Given the description of an element on the screen output the (x, y) to click on. 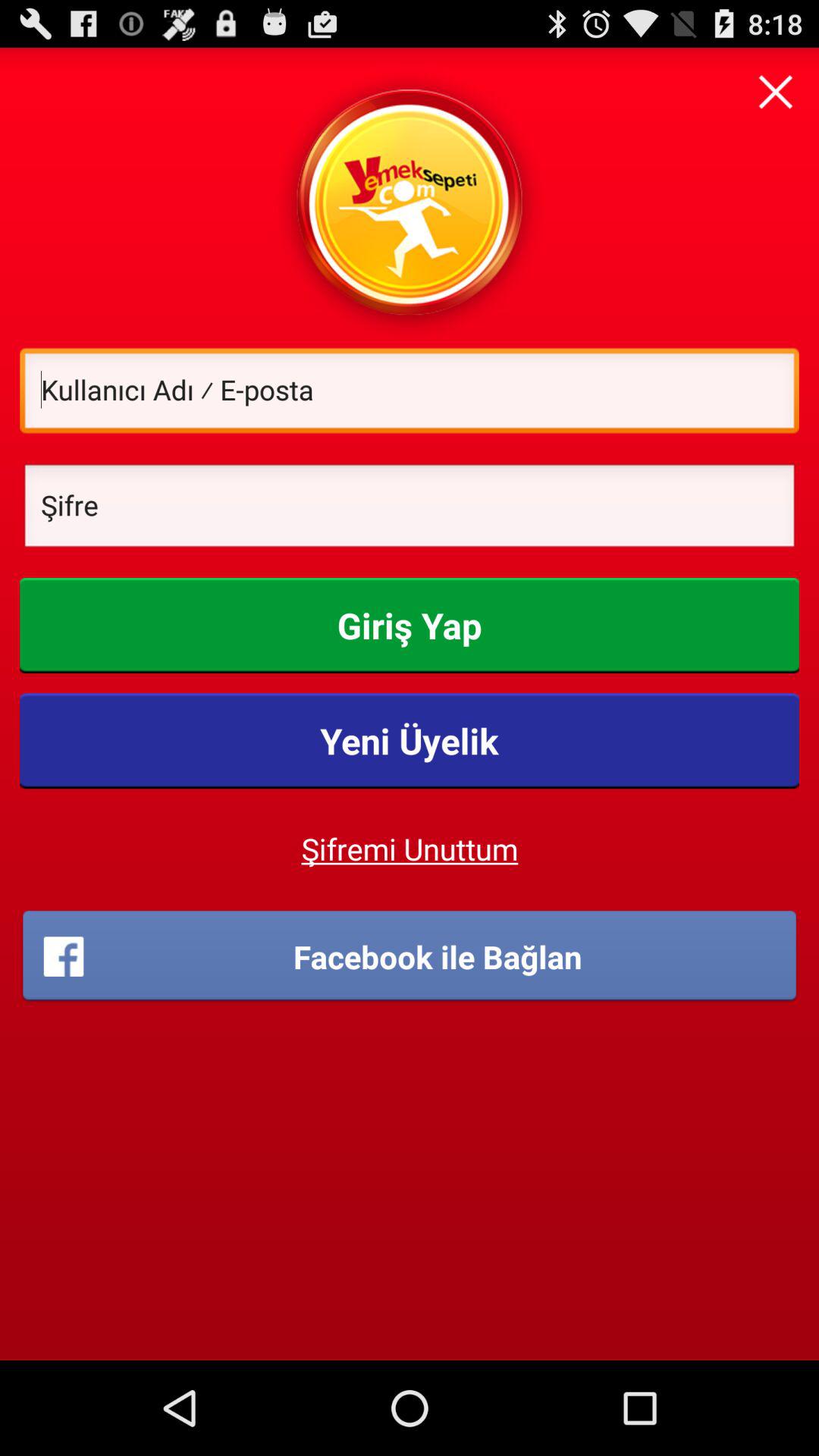
click the item at the top right corner (775, 91)
